Given the description of an element on the screen output the (x, y) to click on. 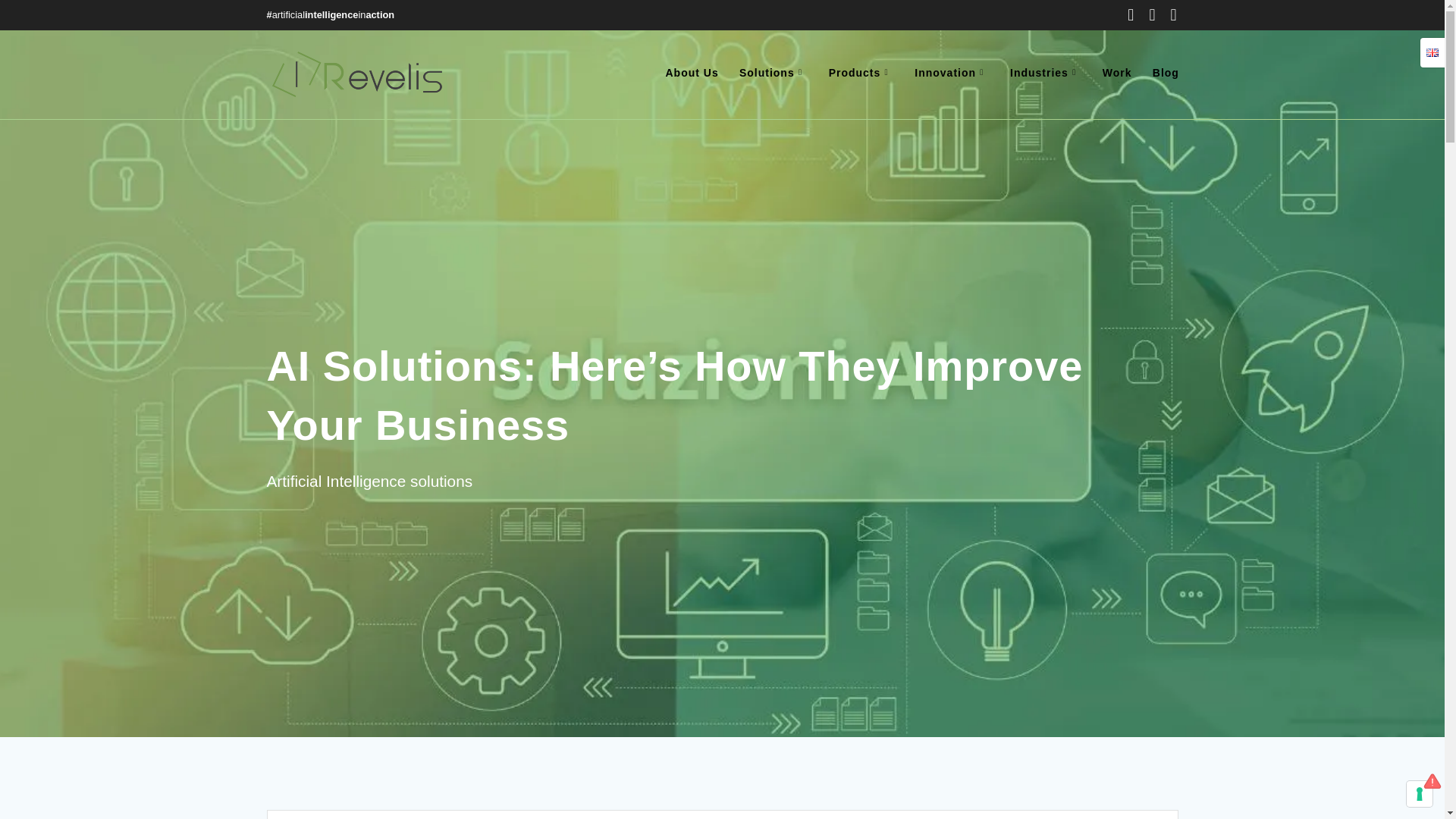
Solutions (773, 74)
Products (860, 74)
Innovation (952, 74)
Industries (1045, 74)
About Us (691, 74)
Work (1117, 74)
Blog (1166, 74)
